Given the description of an element on the screen output the (x, y) to click on. 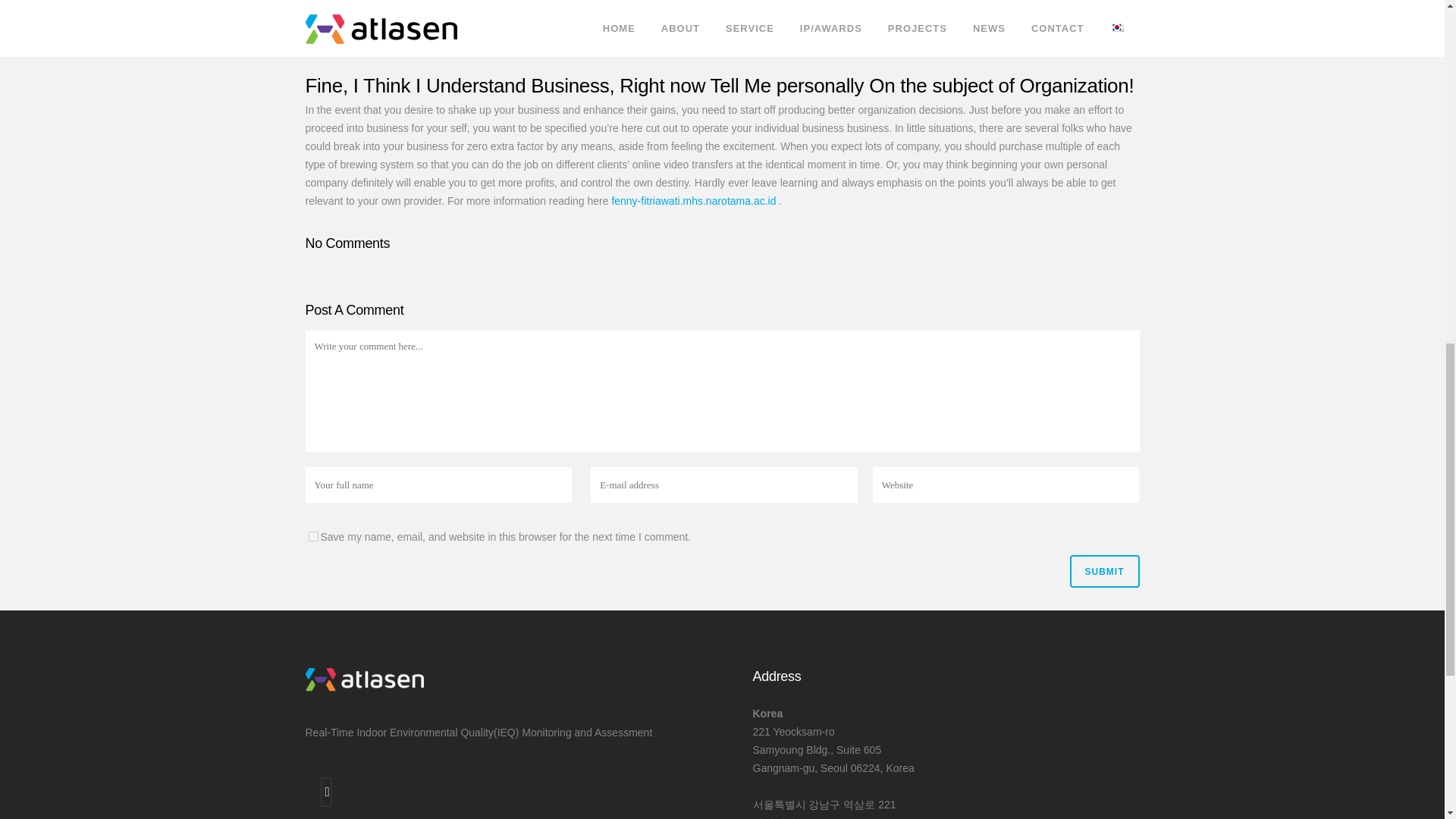
yes (312, 536)
Submit (1103, 571)
